Given the description of an element on the screen output the (x, y) to click on. 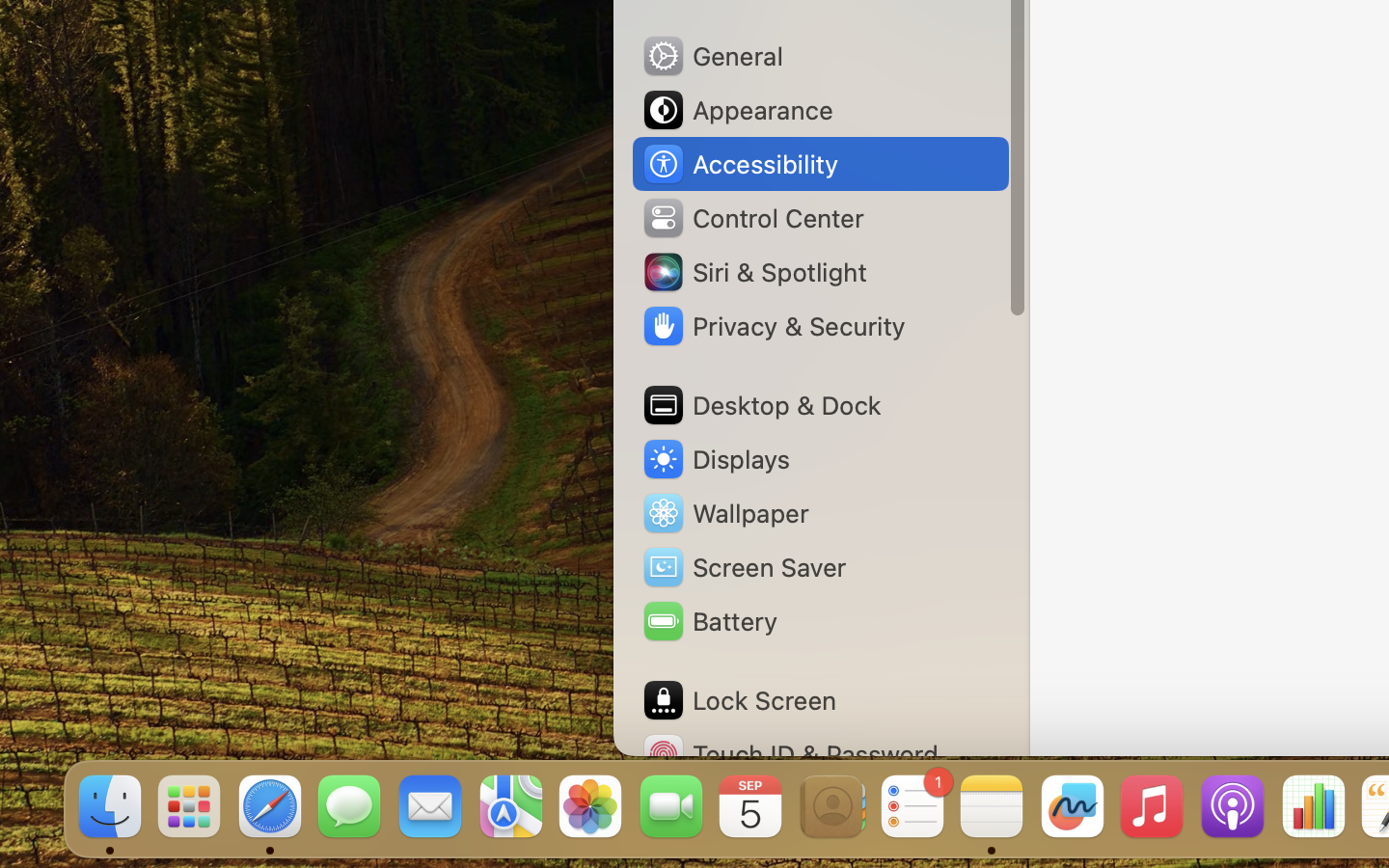
Siri & Spotlight Element type: AXStaticText (753, 271)
Wallpaper Element type: AXStaticText (724, 512)
Touch ID & Password Element type: AXStaticText (789, 754)
